Given the description of an element on the screen output the (x, y) to click on. 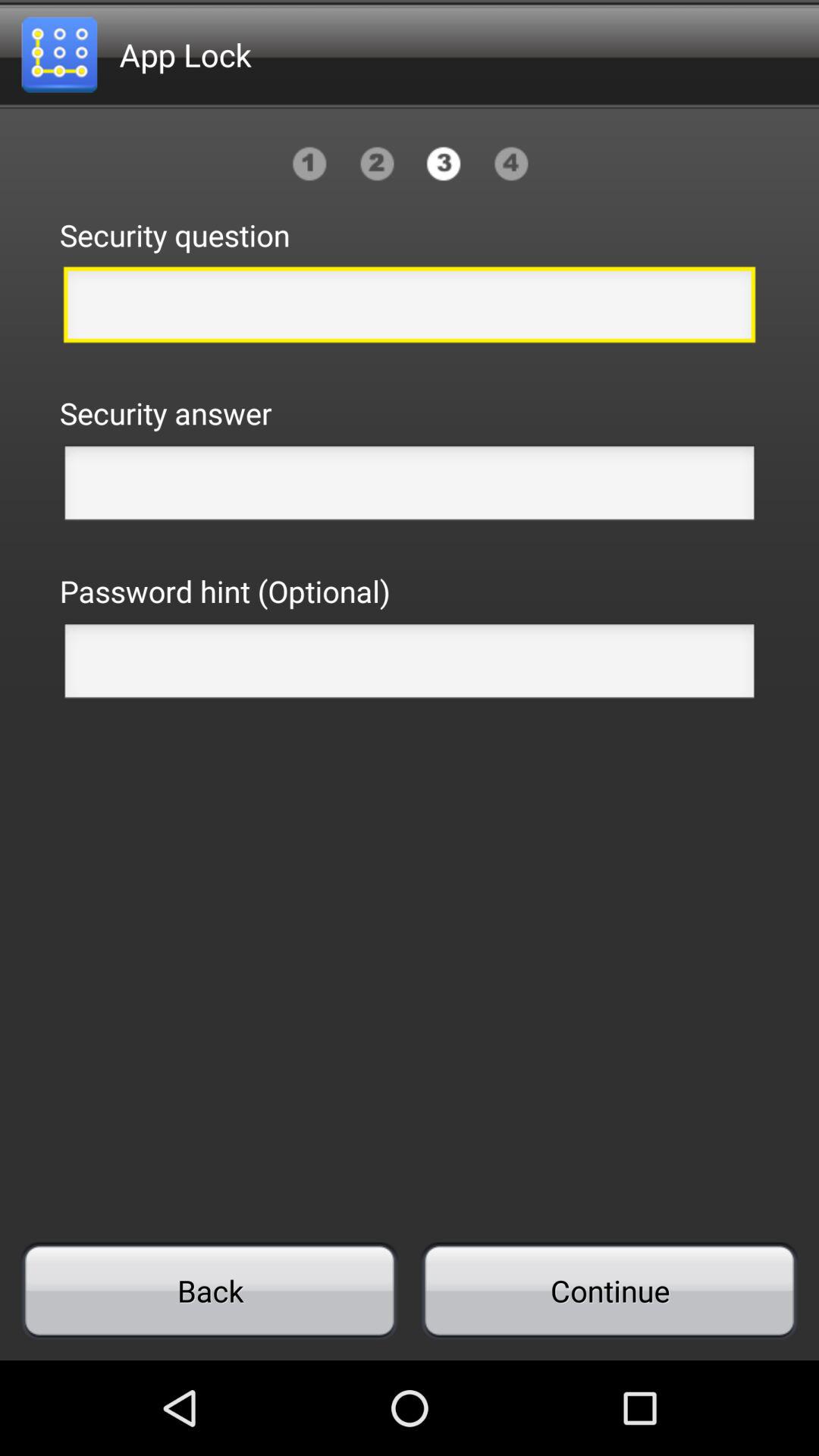
turn on icon next to the continue button (209, 1290)
